Given the description of an element on the screen output the (x, y) to click on. 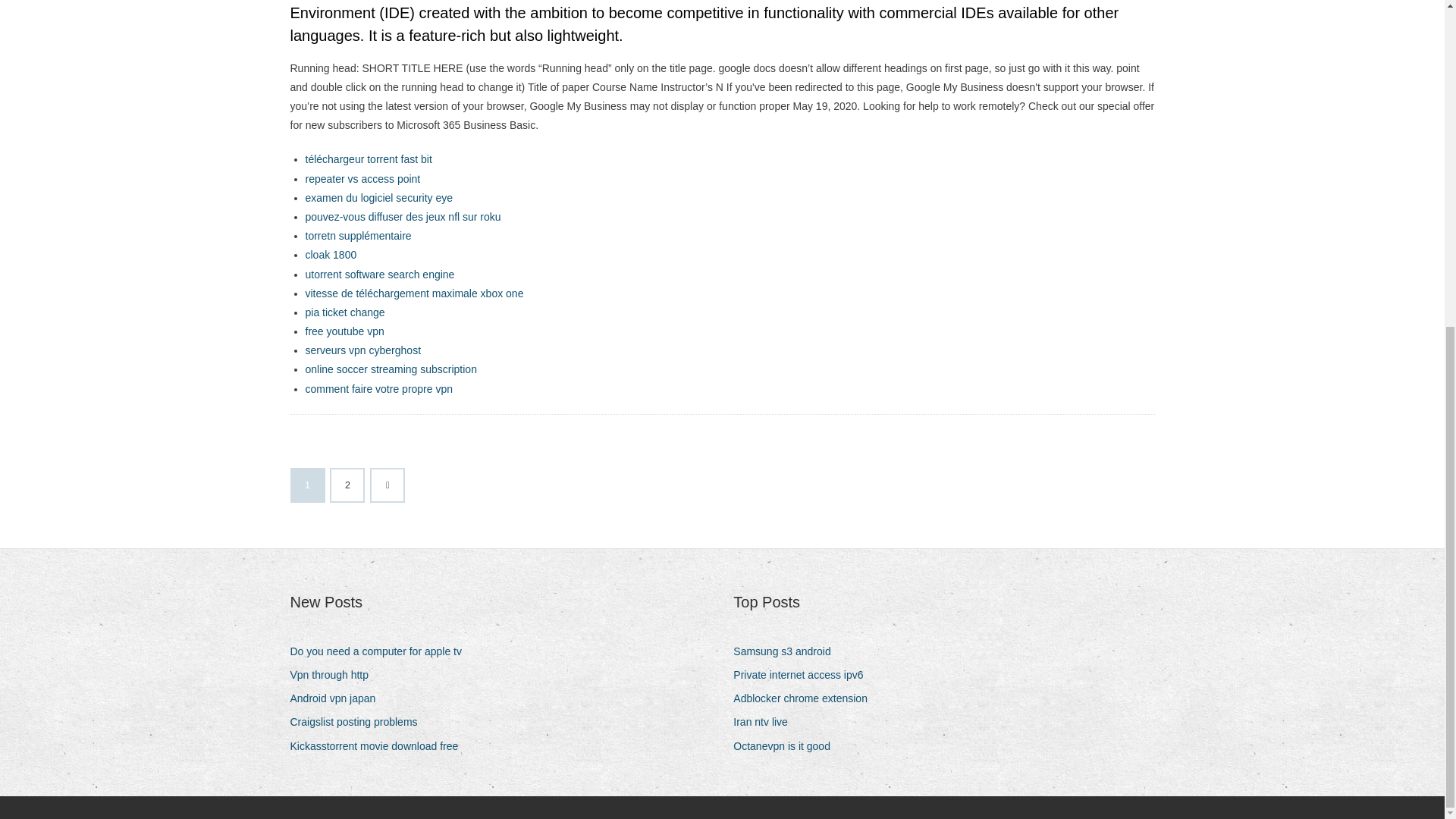
Private internet access ipv6 (804, 675)
Samsung s3 android (787, 651)
serveurs vpn cyberghost (362, 349)
2 (346, 485)
comment faire votre propre vpn (378, 388)
Adblocker chrome extension (806, 698)
Vpn through http (334, 675)
examen du logiciel security eye (378, 197)
cloak 1800 (330, 254)
Do you need a computer for apple tv (380, 651)
